Given the description of an element on the screen output the (x, y) to click on. 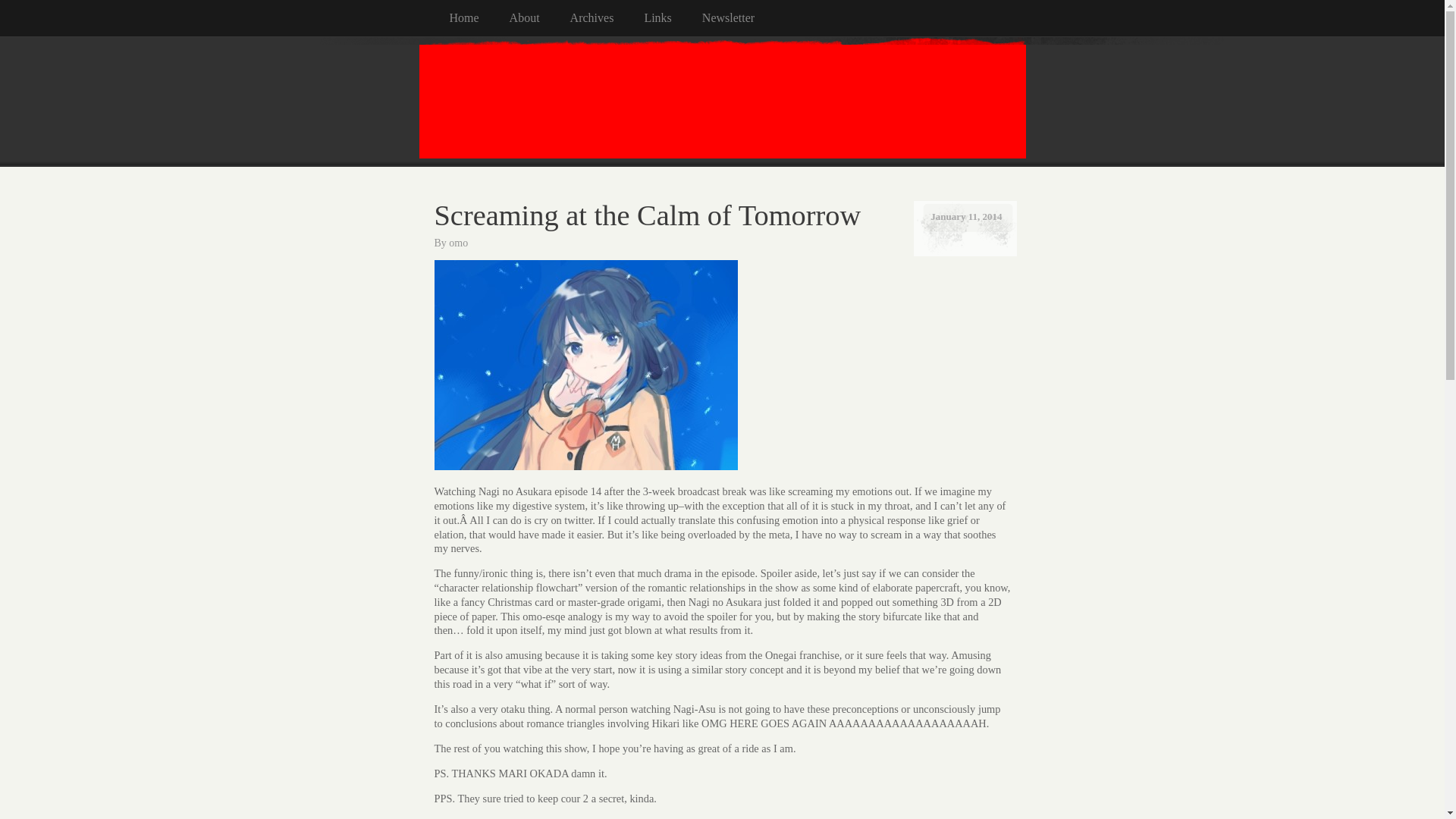
Archives (607, 18)
Home (478, 18)
Newsletter (742, 18)
View all posts by omo (457, 242)
About (539, 18)
Links (672, 18)
omo (457, 242)
